Given the description of an element on the screen output the (x, y) to click on. 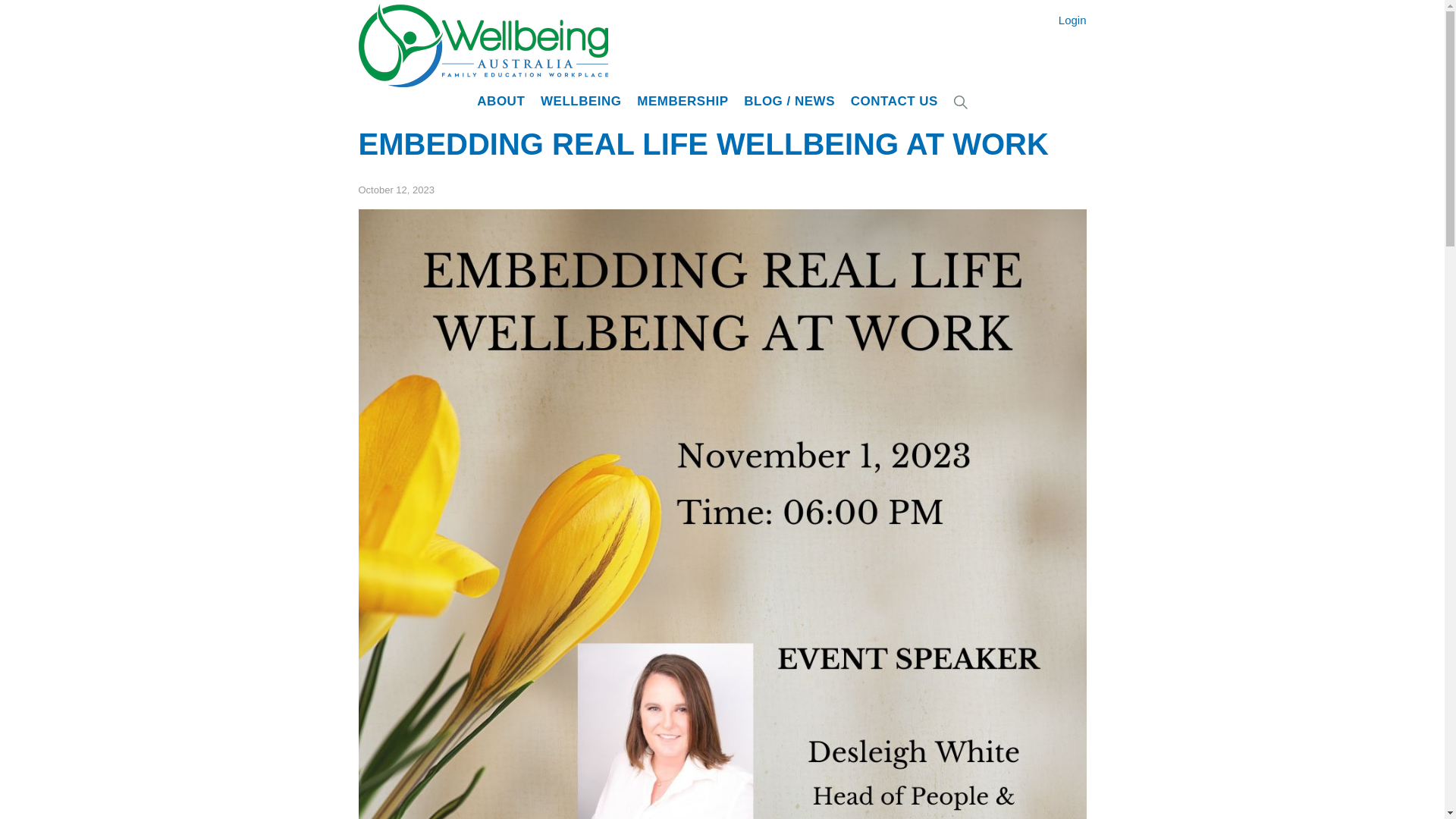
Wellbeing Australia (558, 45)
Login (1072, 19)
ABOUT (504, 100)
CONTACT US (893, 100)
MEMBERSHIP (681, 100)
SEARCH (960, 101)
WELLBEING (580, 100)
